Given the description of an element on the screen output the (x, y) to click on. 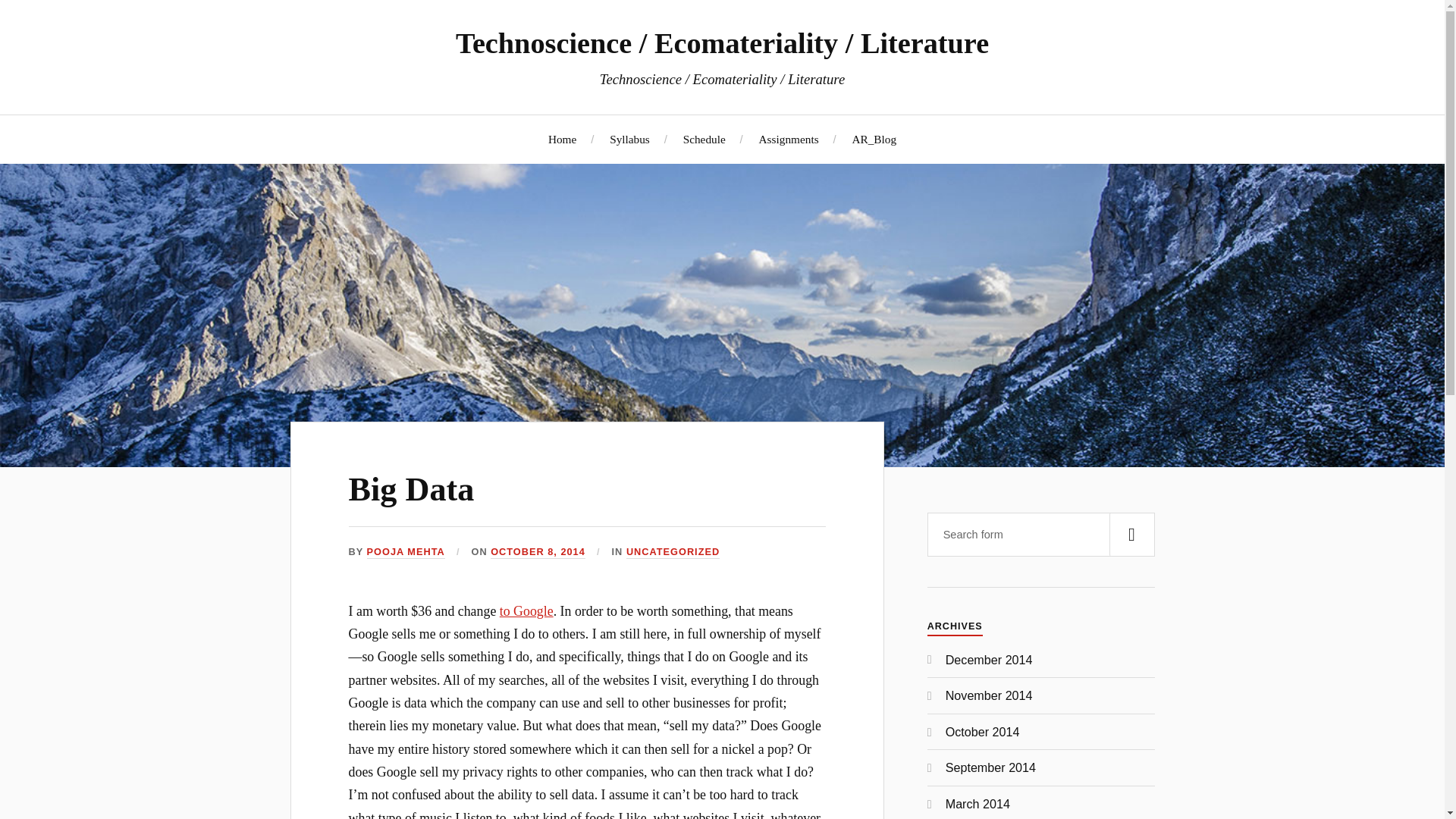
Big Data (411, 488)
Posts by Pooja Mehta (405, 552)
March 2014 (977, 803)
POOJA MEHTA (405, 552)
to Google (526, 611)
December 2014 (988, 659)
Assignments (788, 138)
OCTOBER 8, 2014 (537, 552)
October 2014 (982, 731)
November 2014 (988, 694)
